Given the description of an element on the screen output the (x, y) to click on. 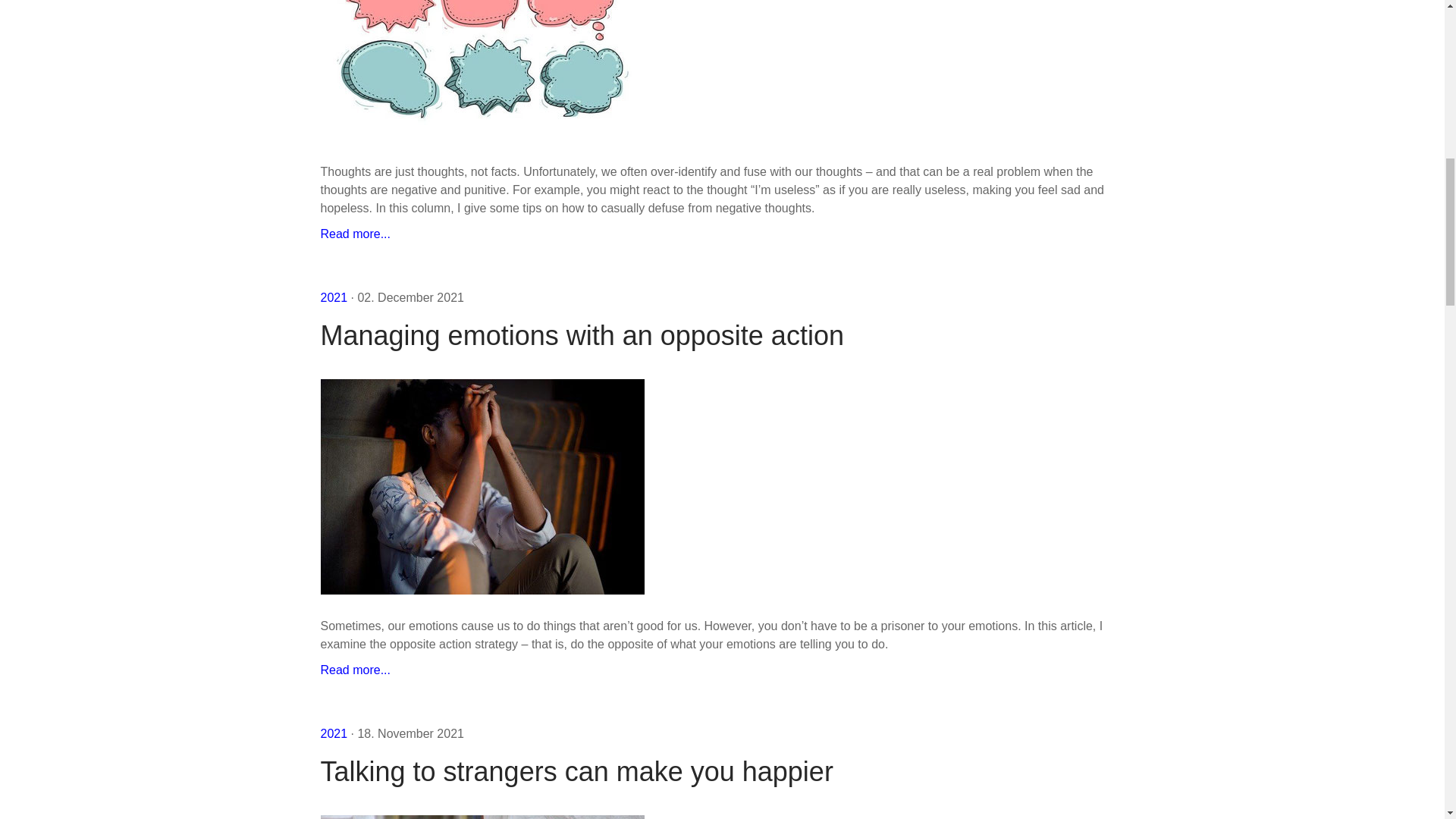
Talking to strangers can make you happier (722, 771)
How to defuse from negative thoughts (355, 233)
Managing emotions with an opposite action (722, 335)
Managing emotions with an opposite action (355, 669)
